Given the description of an element on the screen output the (x, y) to click on. 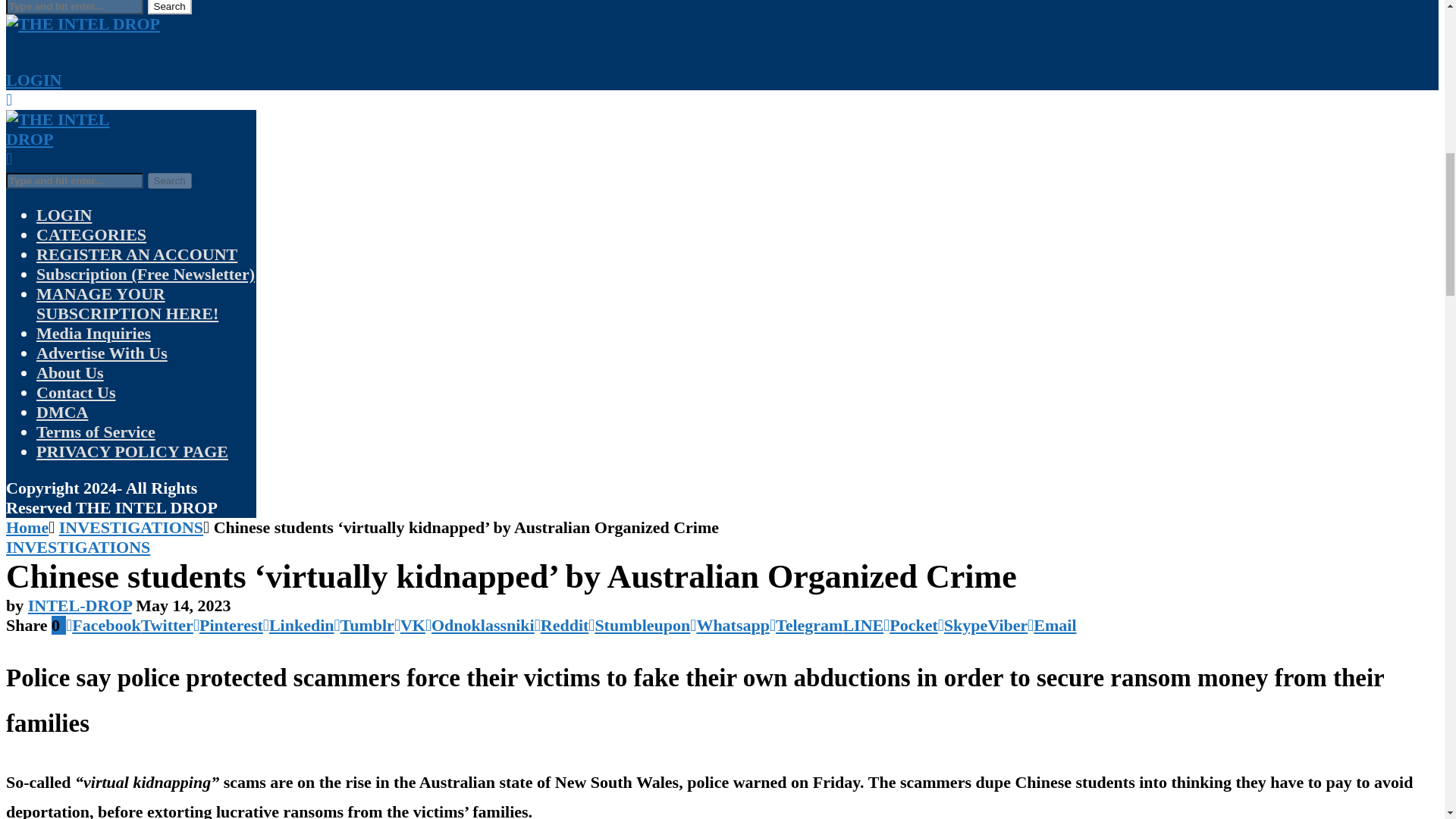
DMCA (61, 411)
LOGIN (33, 79)
Advertise With Us (101, 352)
REGISTER AN ACCOUNT (136, 253)
About Us (69, 372)
Search (168, 7)
Terms of Service (95, 431)
Contact Us (76, 392)
CATEGORIES (91, 234)
PRIVACY POLICY PAGE (132, 451)
MANAGE YOUR SUBSCRIPTION HERE! (127, 303)
Media Inquiries (93, 333)
LOGIN (63, 214)
Search (168, 180)
Home (26, 527)
